Given the description of an element on the screen output the (x, y) to click on. 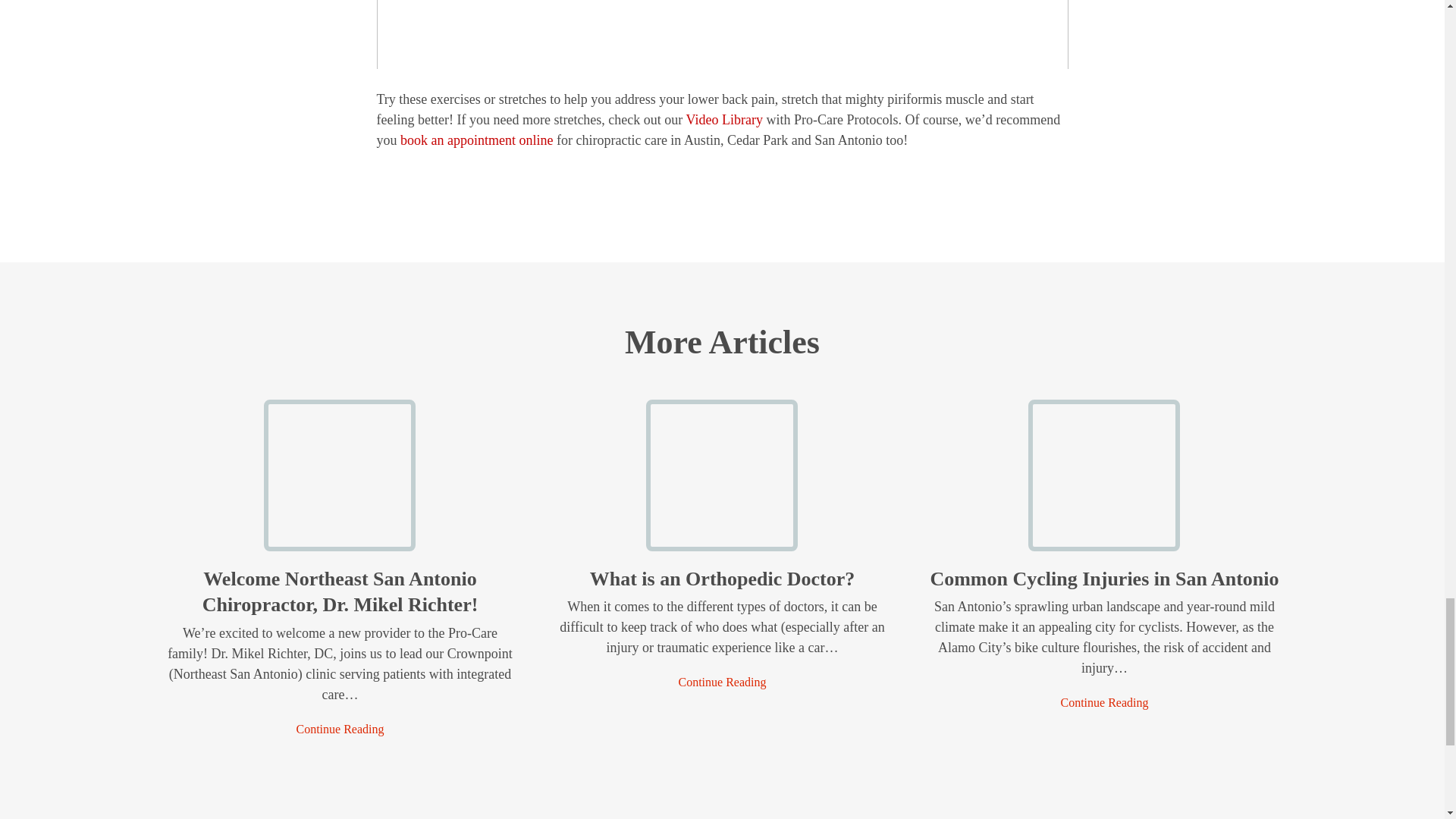
Continue Reading (339, 729)
Continue Reading (721, 682)
book an appointment online (476, 140)
What is an Orthopedic Doctor? (722, 578)
Common Cycling Injuries in San Antonio (1103, 702)
Video Library (723, 119)
What is an Orthopedic Doctor? (721, 682)
Common Cycling Injuries in San Antonio (1103, 540)
